Given the description of an element on the screen output the (x, y) to click on. 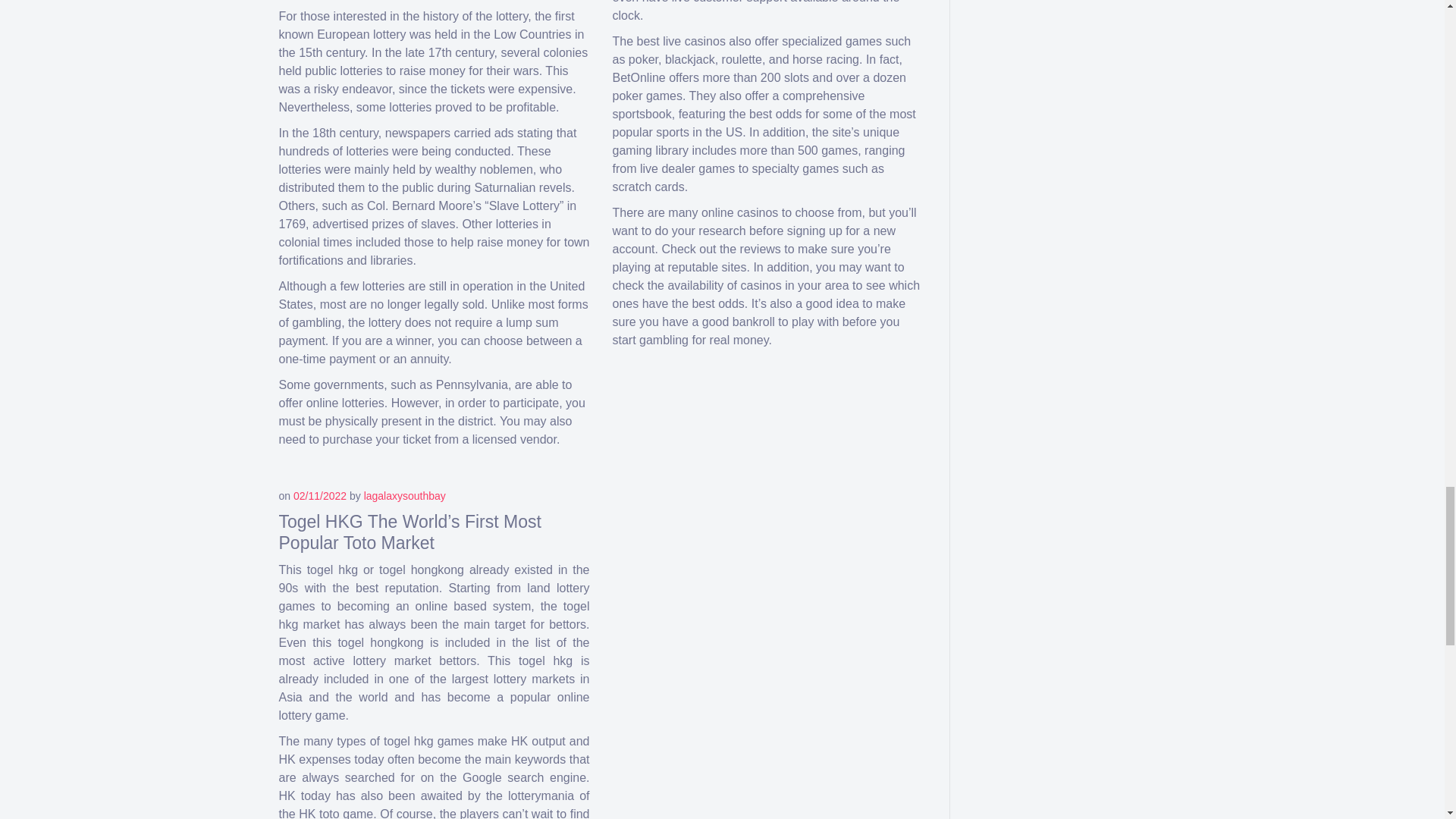
lagalaxysouthbay (404, 495)
togel hkg (332, 569)
